Given the description of an element on the screen output the (x, y) to click on. 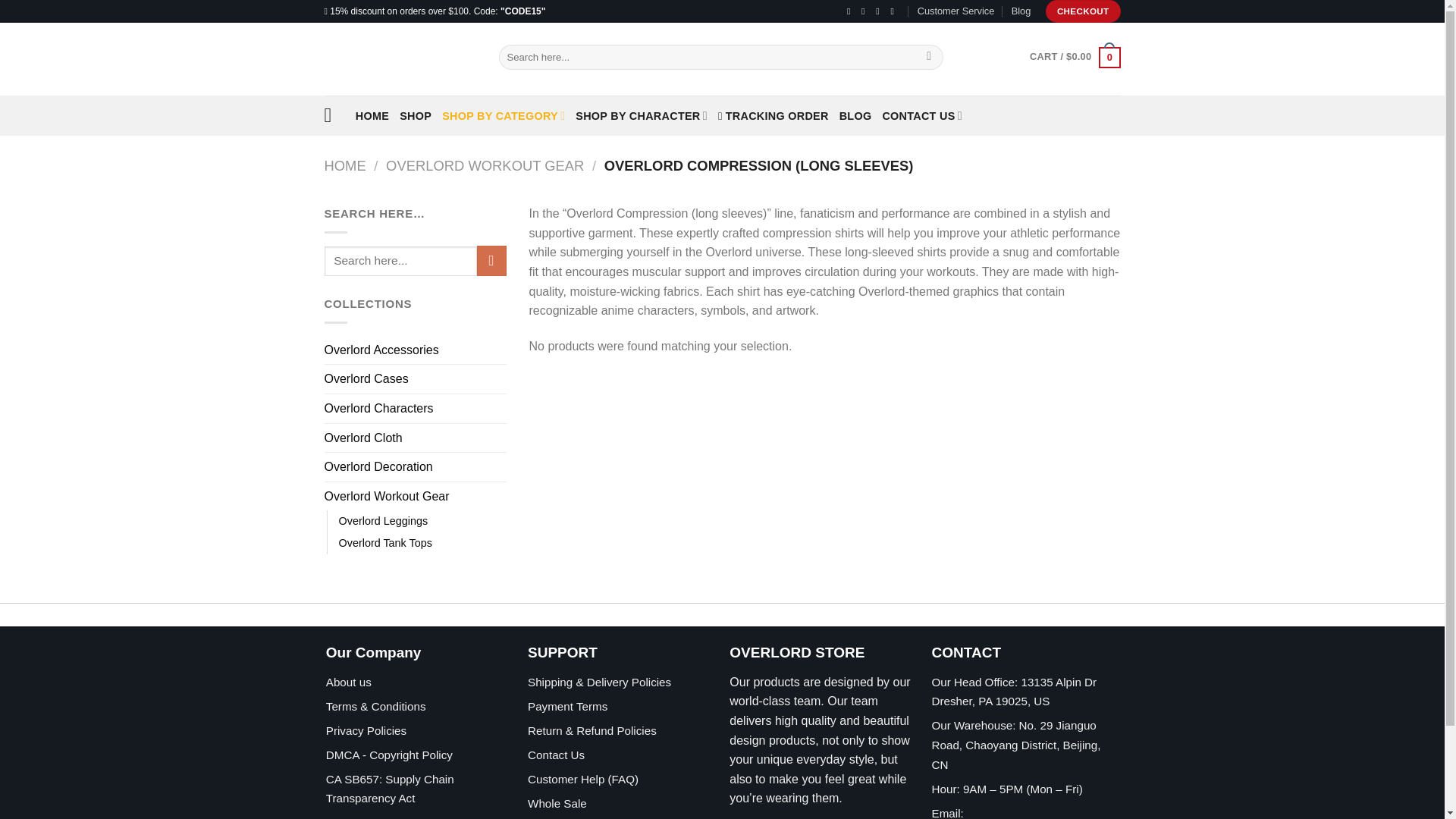
SHOP BY CATEGORY (503, 115)
CHECKOUT (1083, 11)
SHOP (414, 115)
HOME (371, 115)
Customer Service (955, 11)
Search (929, 57)
Cart (1074, 56)
